Given the description of an element on the screen output the (x, y) to click on. 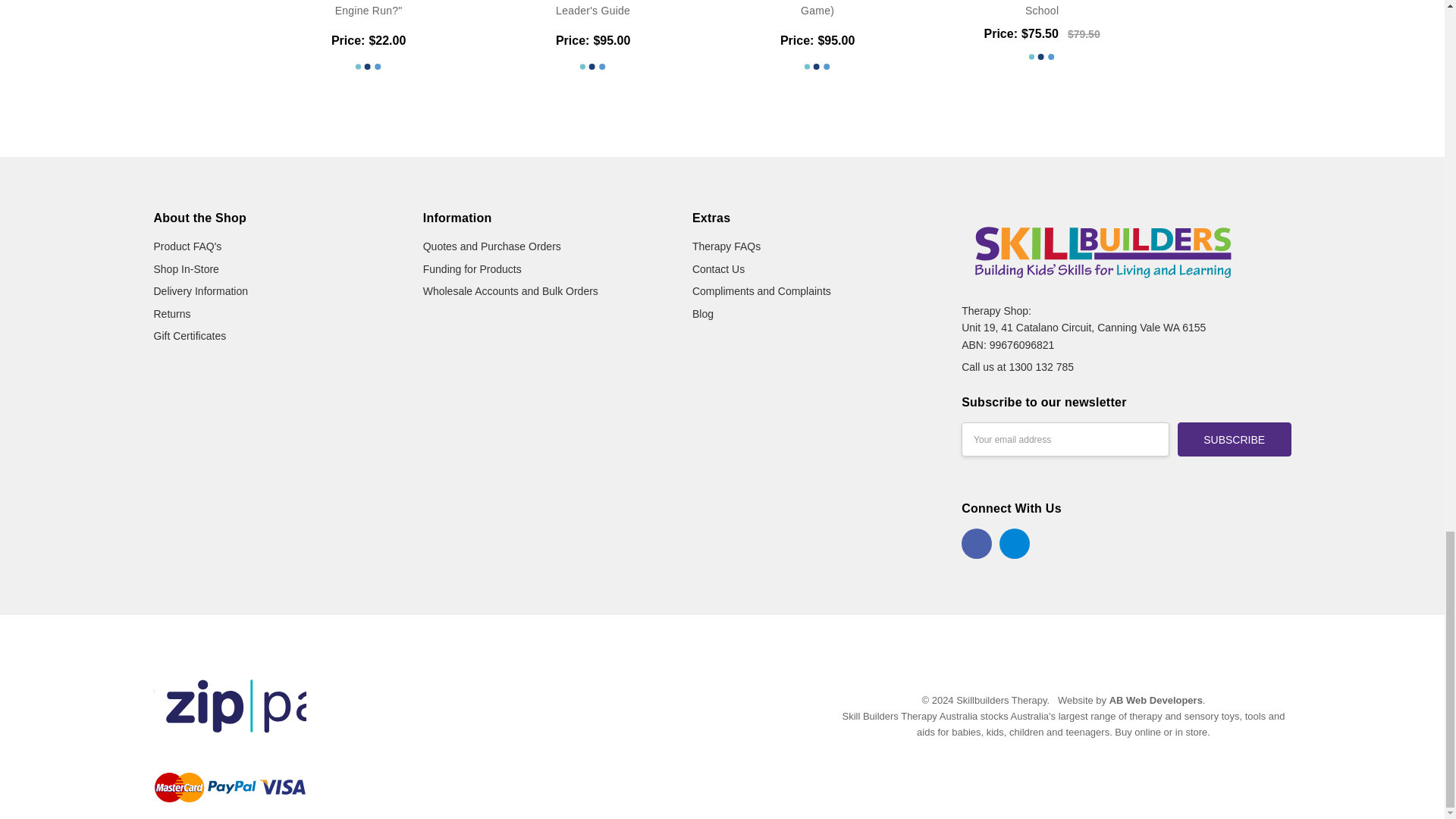
Subscribe (1234, 439)
